Given the description of an element on the screen output the (x, y) to click on. 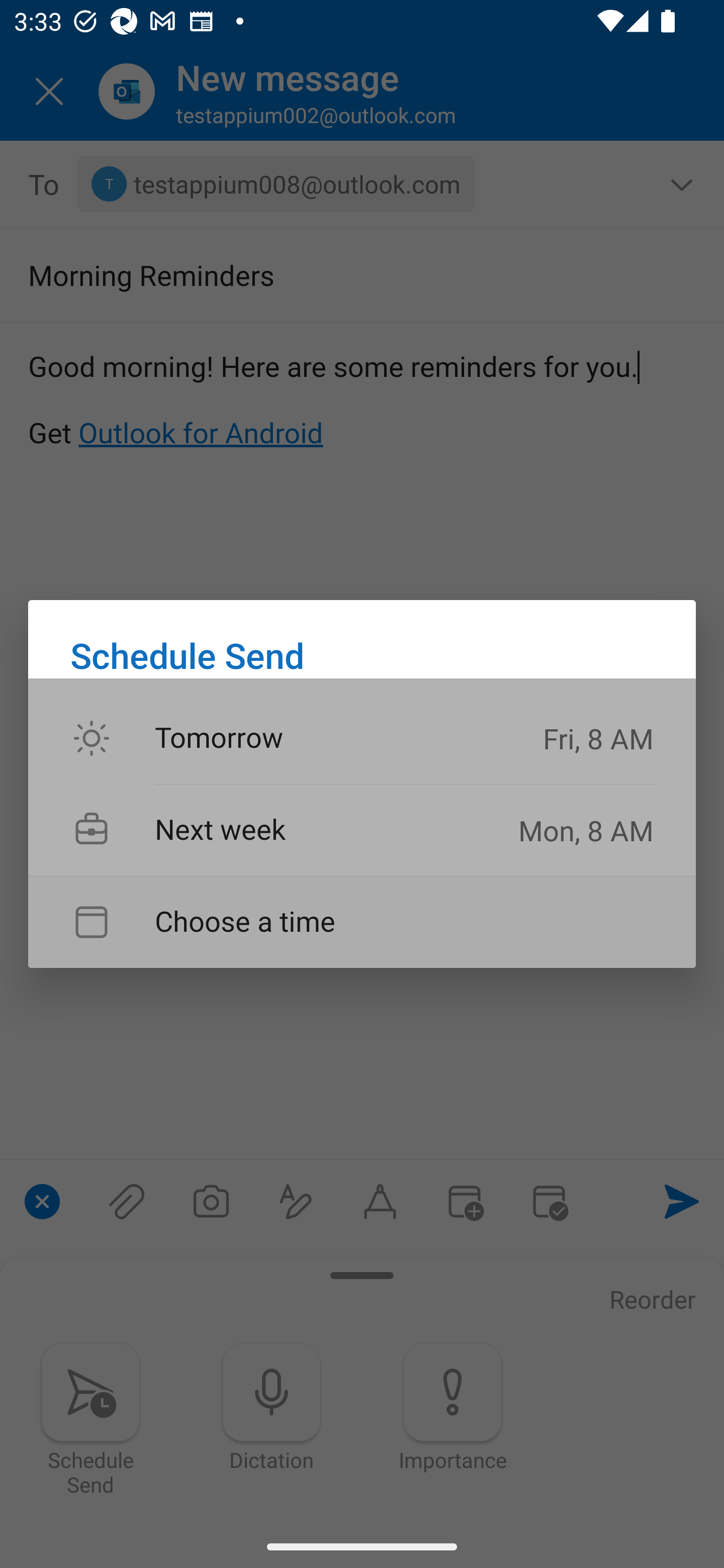
Option 1 Tomorrow Fri, 8 AM (361, 738)
Option 2 Next week Mon, 8 AM (361, 830)
Choose a time (361, 921)
